Given the description of an element on the screen output the (x, y) to click on. 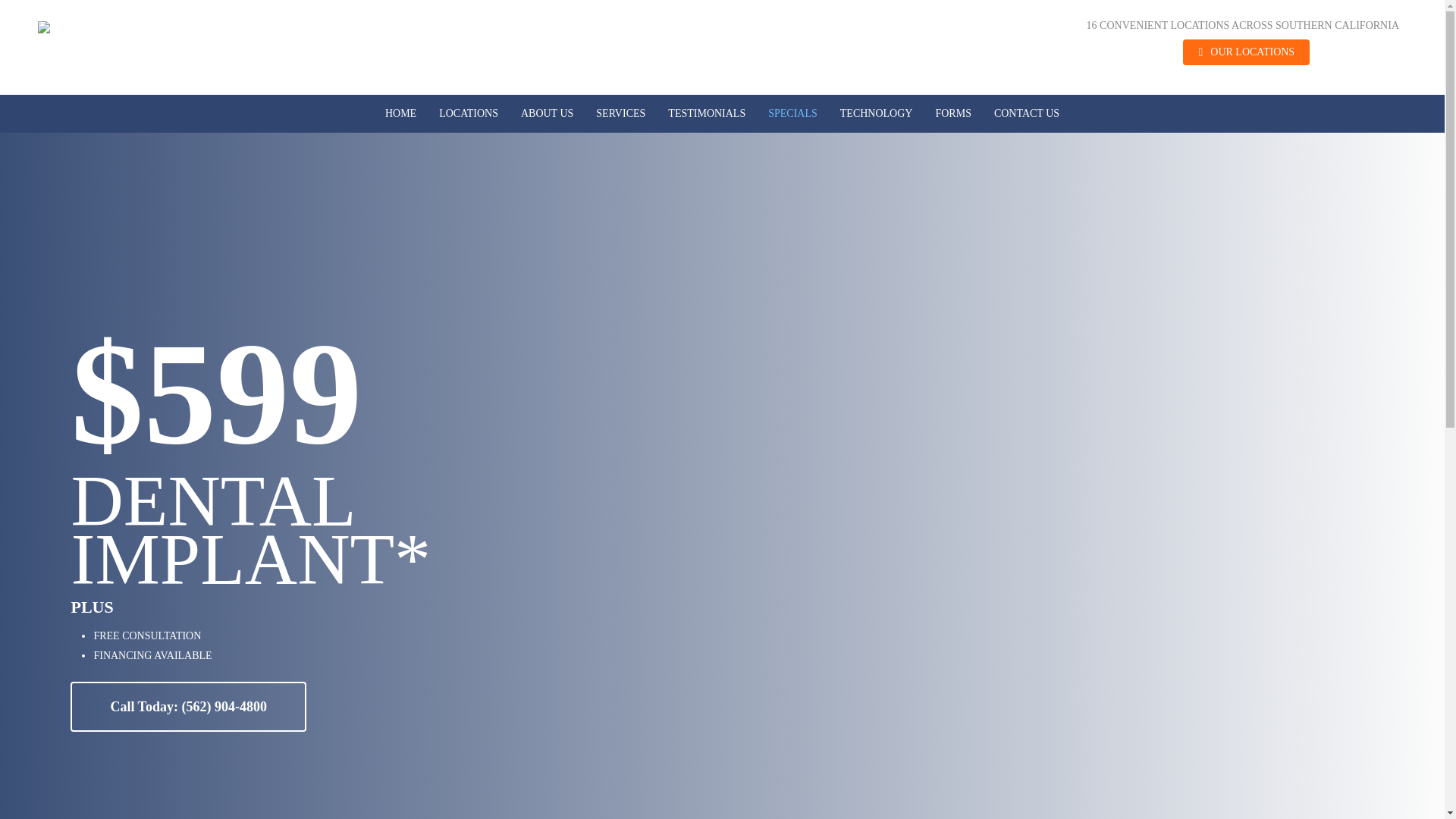
HOME (401, 113)
ABOUT US (547, 113)
SERVICES (620, 113)
16 CONVENIENT LOCATIONS ACROSS SOUTHERN CALIFORNIA (1242, 25)
LOCATIONS (468, 113)
OUR LOCATIONS (1245, 52)
